Given the description of an element on the screen output the (x, y) to click on. 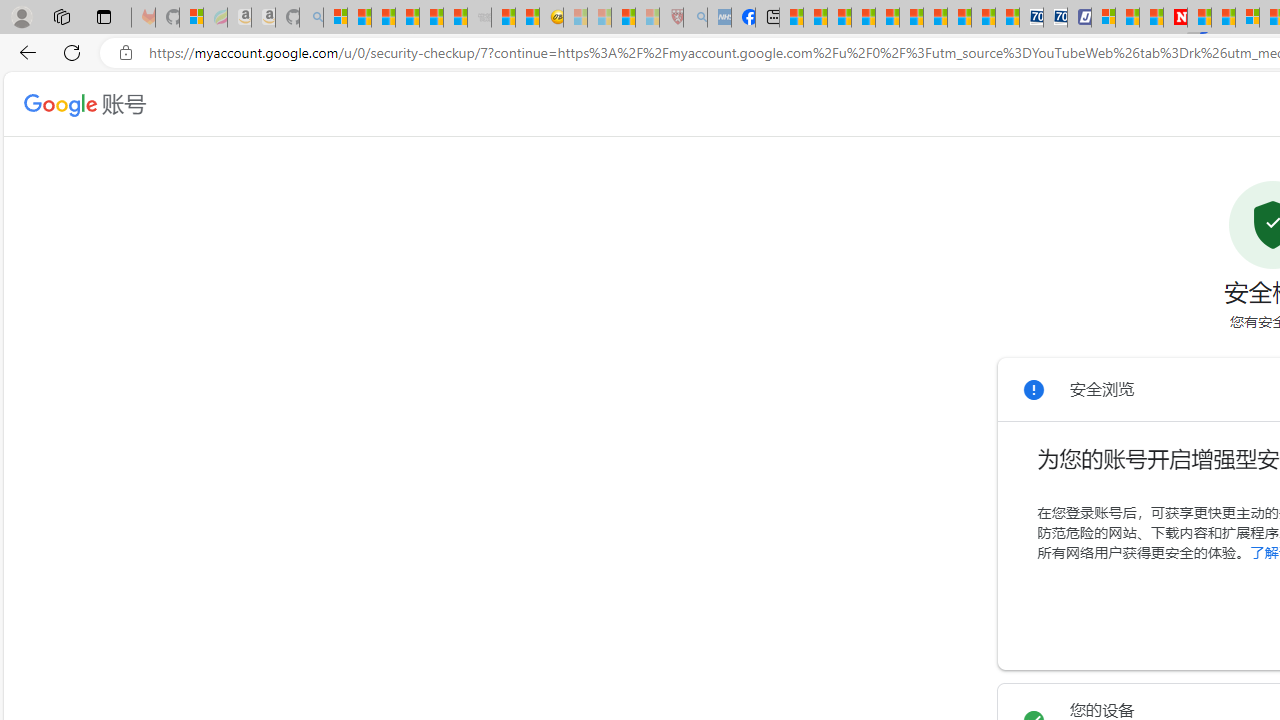
Combat Siege - Sleeping (479, 17)
Cheap Hotels - Save70.com (1055, 17)
The Weather Channel - MSN (383, 17)
